Given the description of an element on the screen output the (x, y) to click on. 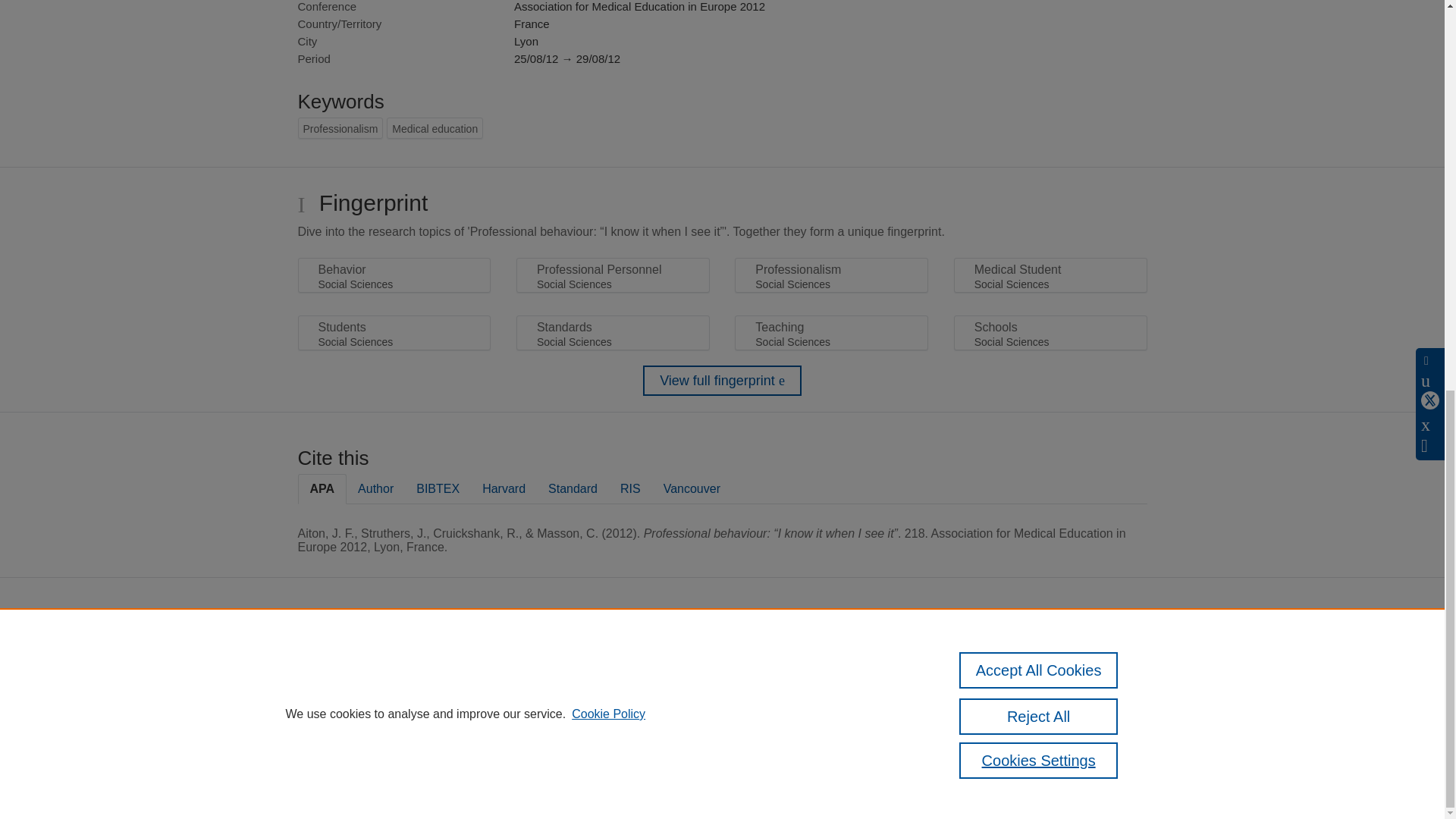
Pure (620, 653)
Scopus (652, 653)
View full fingerprint (722, 380)
